Given the description of an element on the screen output the (x, y) to click on. 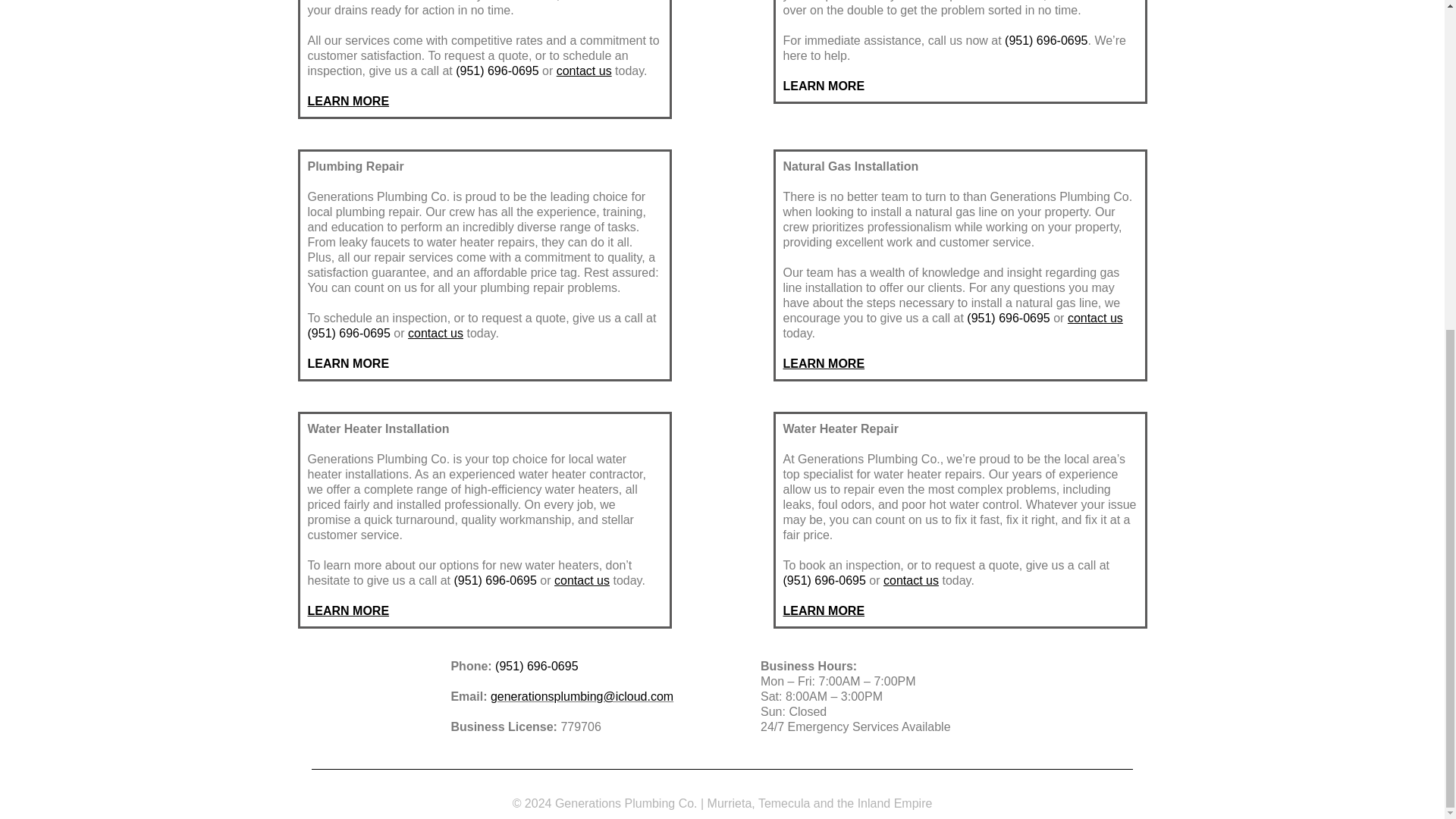
LEARN MORE (348, 101)
LEARN MORE (348, 610)
contact us (583, 70)
contact us (435, 332)
LEARN MORE (823, 363)
contact us (1094, 318)
contact us (582, 580)
LEARN MORE (348, 363)
LEARN MORE (823, 85)
